Given the description of an element on the screen output the (x, y) to click on. 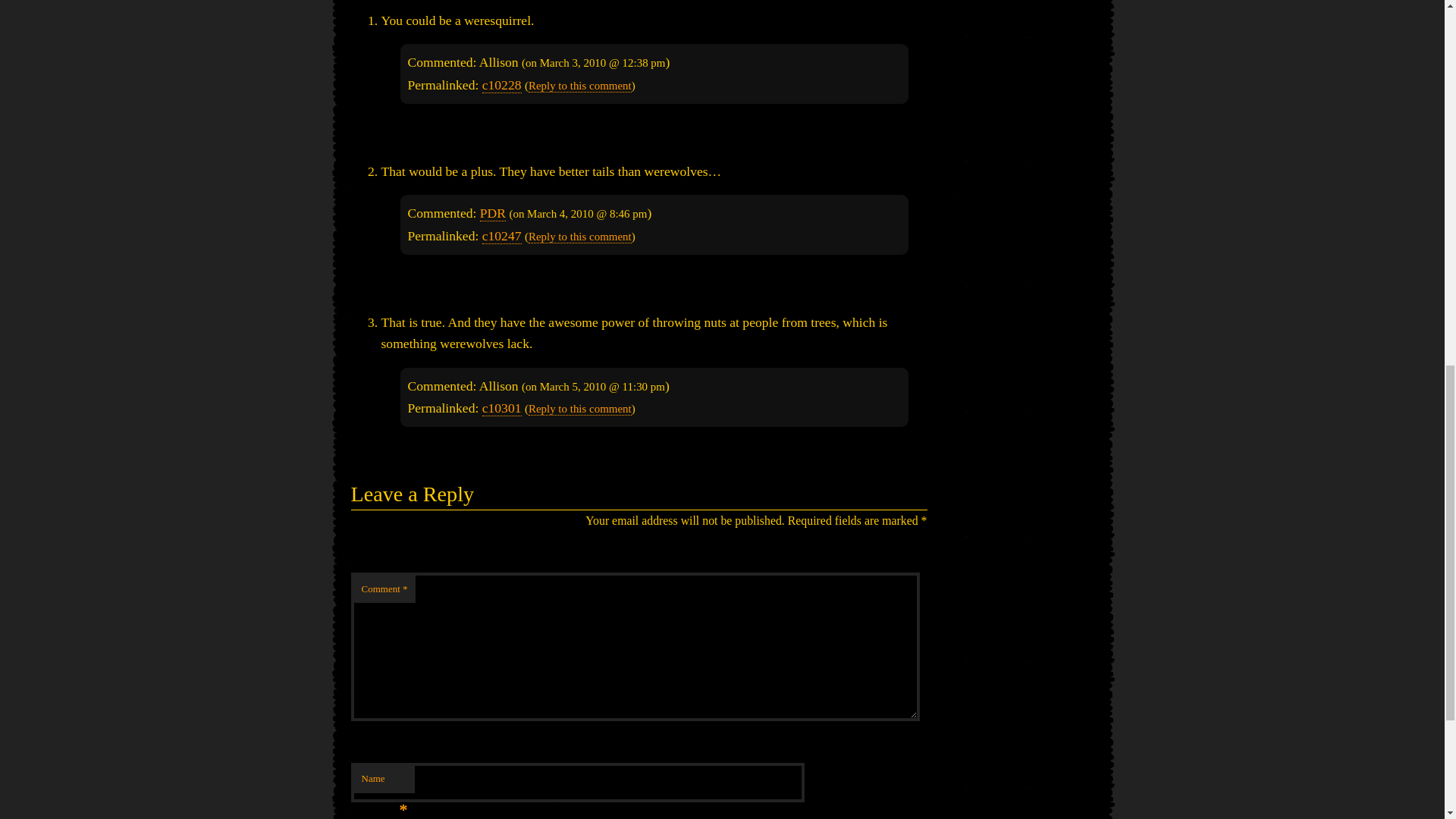
Reply to this comment (579, 236)
c10301 (501, 408)
PDR (492, 213)
c10247 (501, 236)
Reply to this comment (579, 408)
Reply to this comment (579, 85)
c10228 (501, 84)
